Given the description of an element on the screen output the (x, y) to click on. 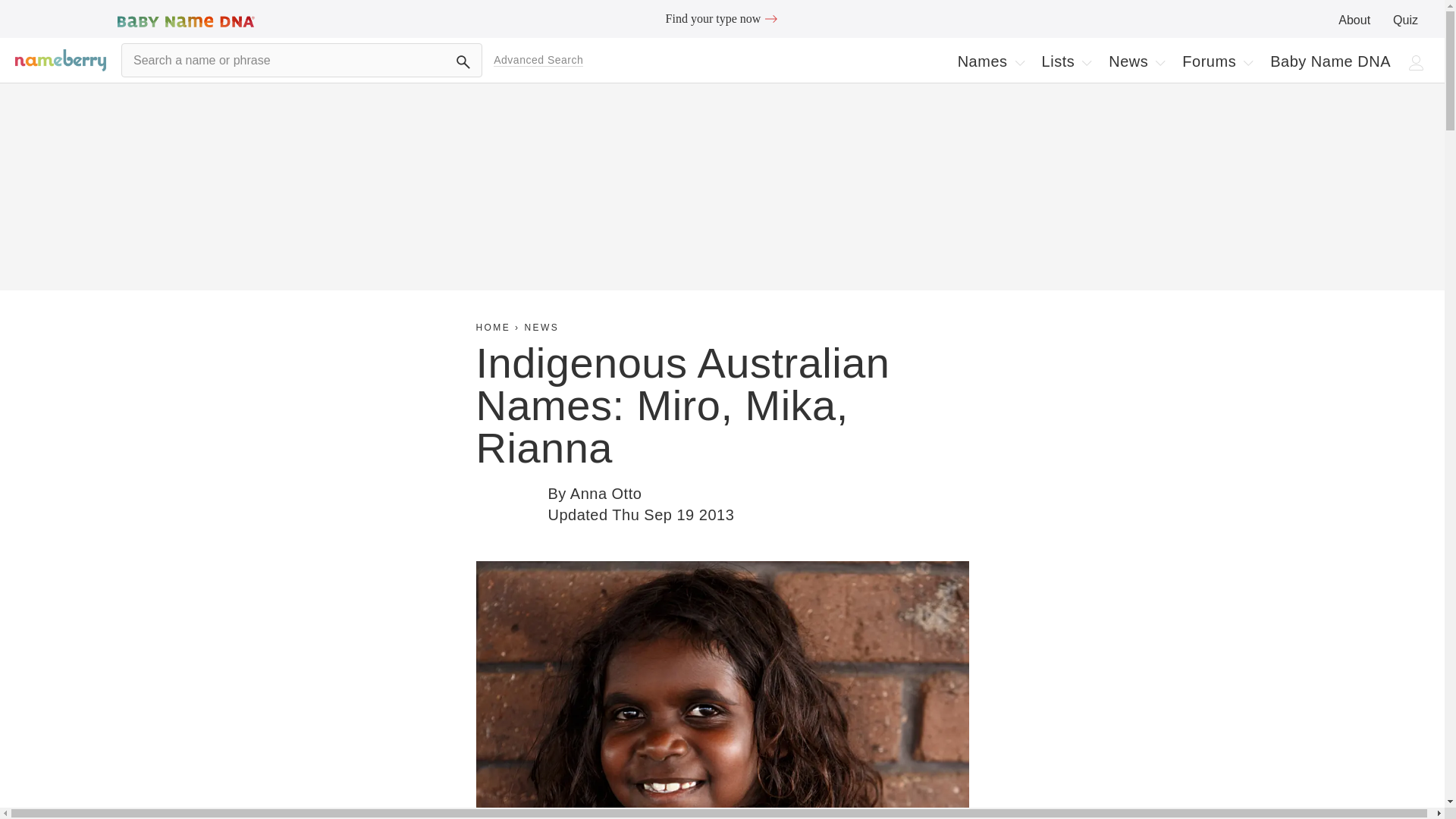
NEWS (541, 327)
Arrow Right (770, 18)
HOME (493, 327)
Chevron - Down (1247, 62)
By Anna Otto (594, 493)
User (1416, 62)
Baby Name DNA (1329, 61)
Quiz (1405, 19)
Advanced Search (538, 60)
About (1354, 19)
